Given the description of an element on the screen output the (x, y) to click on. 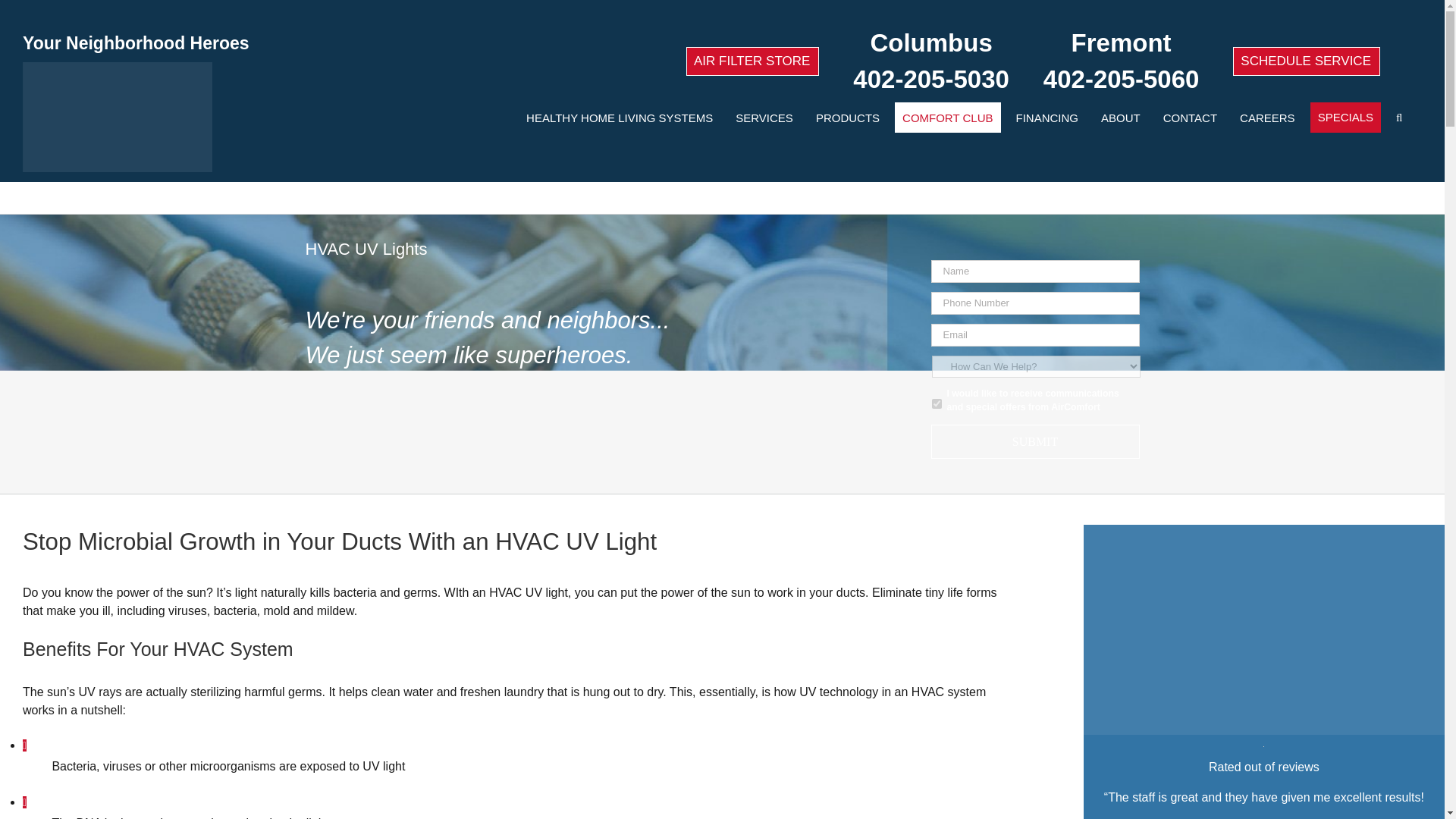
PRODUCTS (847, 117)
402-205-5030 (931, 78)
SCHEDULE SERVICE (1306, 61)
FINANCING (1047, 117)
ABOUT (1120, 117)
AIR FILTER STORE (751, 61)
HEALTHY HOME LIVING SYSTEMS (619, 117)
COMFORT CLUB (947, 117)
402-205-5060 (1121, 78)
